Given the description of an element on the screen output the (x, y) to click on. 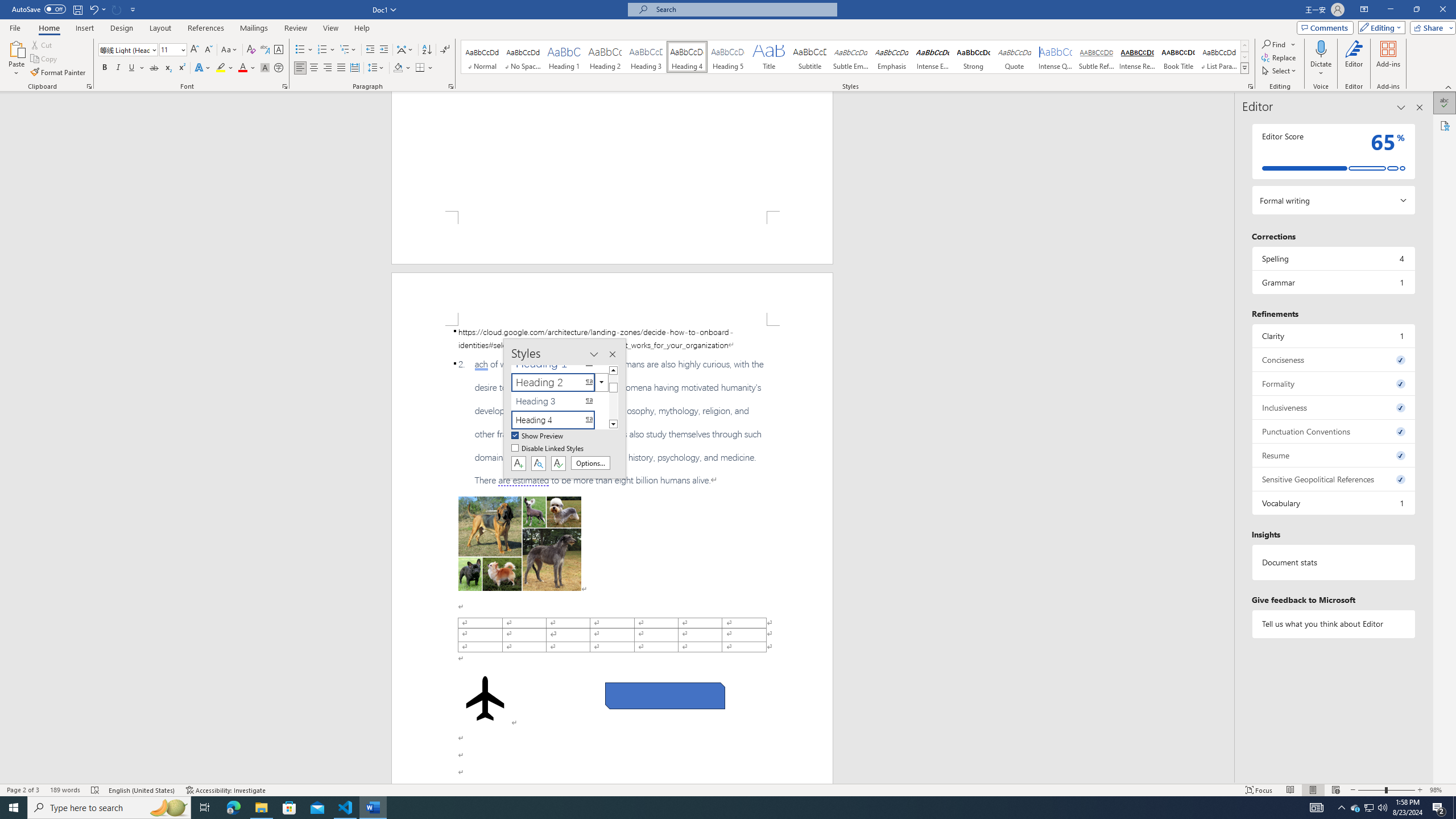
Morphological variation in six dogs (519, 543)
Editor Score 65% (1333, 151)
Subtle Reference (1095, 56)
